Given the description of an element on the screen output the (x, y) to click on. 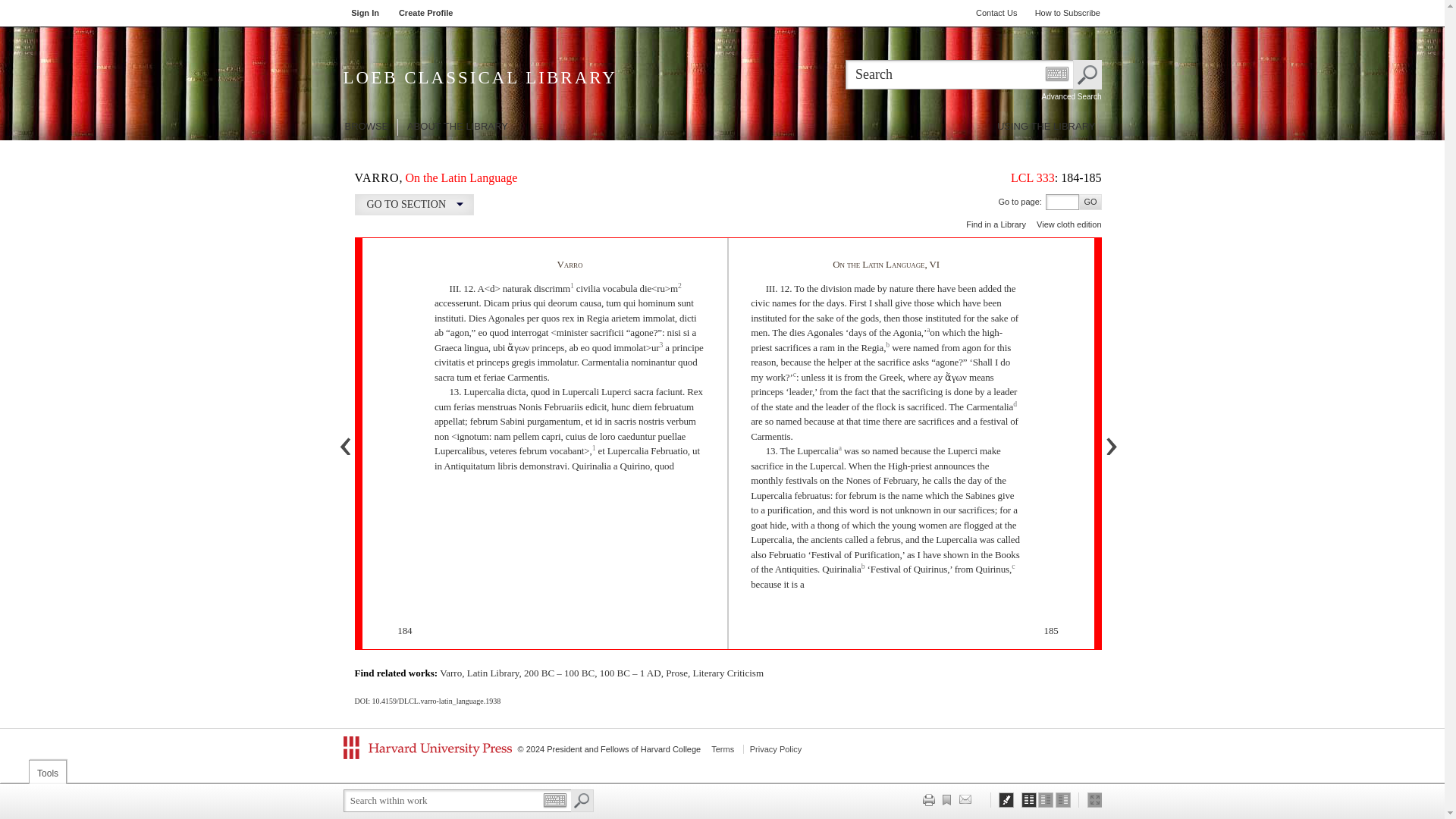
How to Subscribe (1067, 13)
Search (1085, 74)
LOEB CLASSICAL LIBRARY (528, 83)
Create Profile (426, 13)
Show Greek Keyboard (1056, 73)
Sign Up (426, 13)
Contact Us (996, 13)
Sign In (365, 13)
Go (1089, 201)
